Given the description of an element on the screen output the (x, y) to click on. 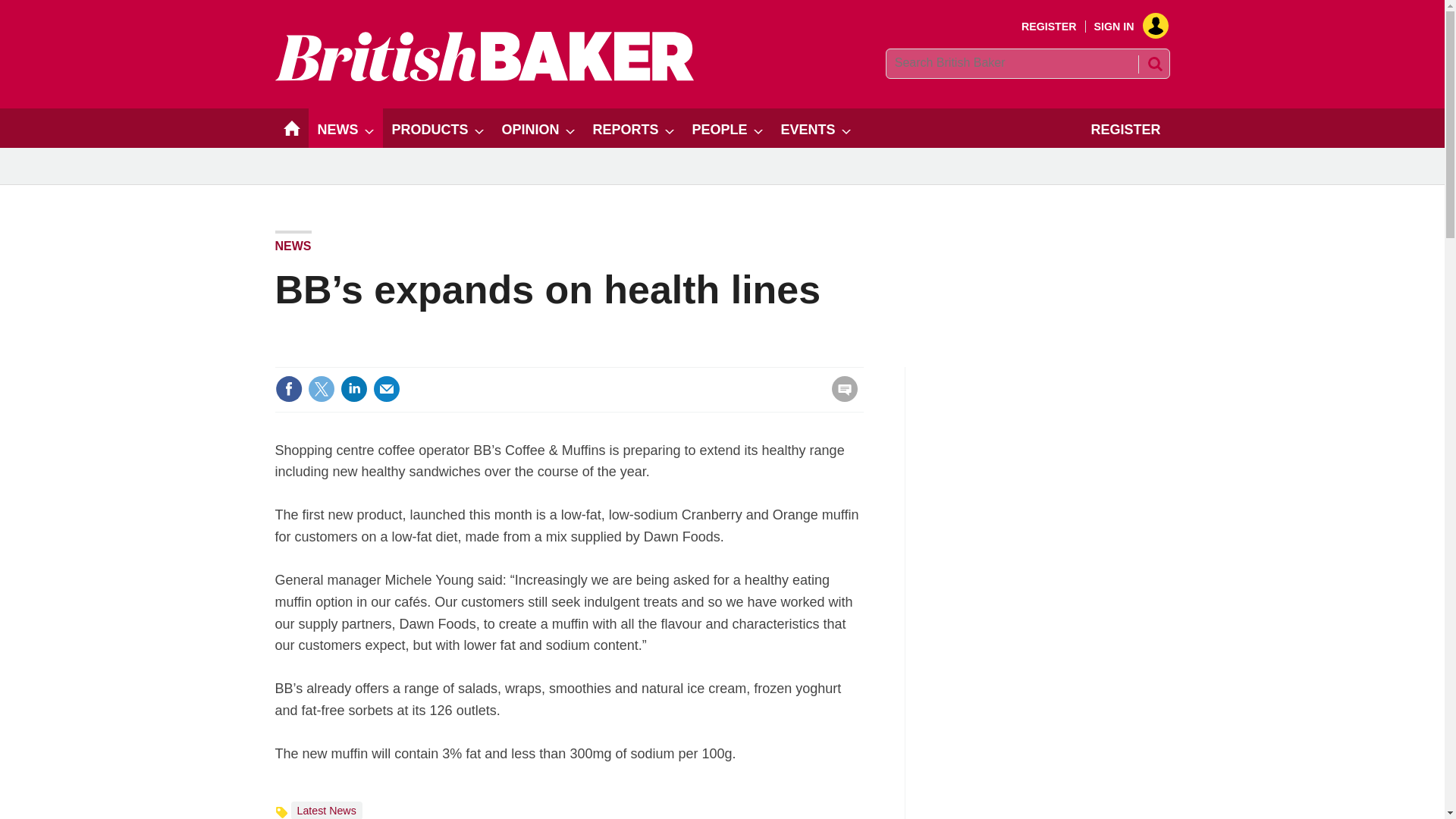
Share this on Twitter (320, 388)
Email this article (386, 388)
SIGN IN (1125, 26)
No comments (840, 397)
REGISTER (1049, 26)
Share this on Facebook (288, 388)
Share this on Linked in (352, 388)
SEARCH (1153, 63)
Site name (484, 76)
